Given the description of an element on the screen output the (x, y) to click on. 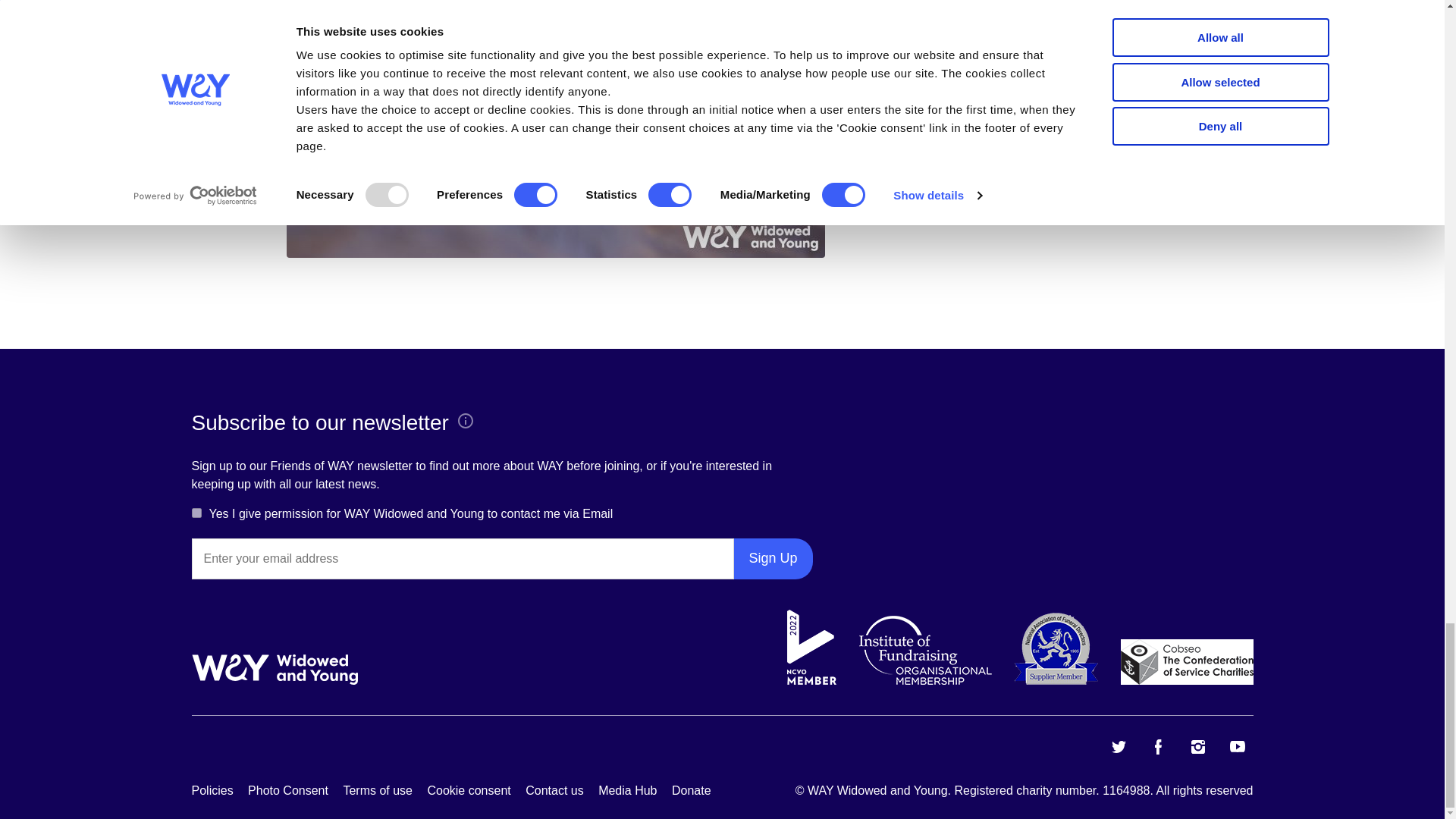
Y (195, 512)
Terms of use (377, 791)
Sign Up (772, 558)
Contact us (554, 791)
Cookie policy (288, 791)
Make a donation (691, 791)
Privacy policy (211, 791)
